Given the description of an element on the screen output the (x, y) to click on. 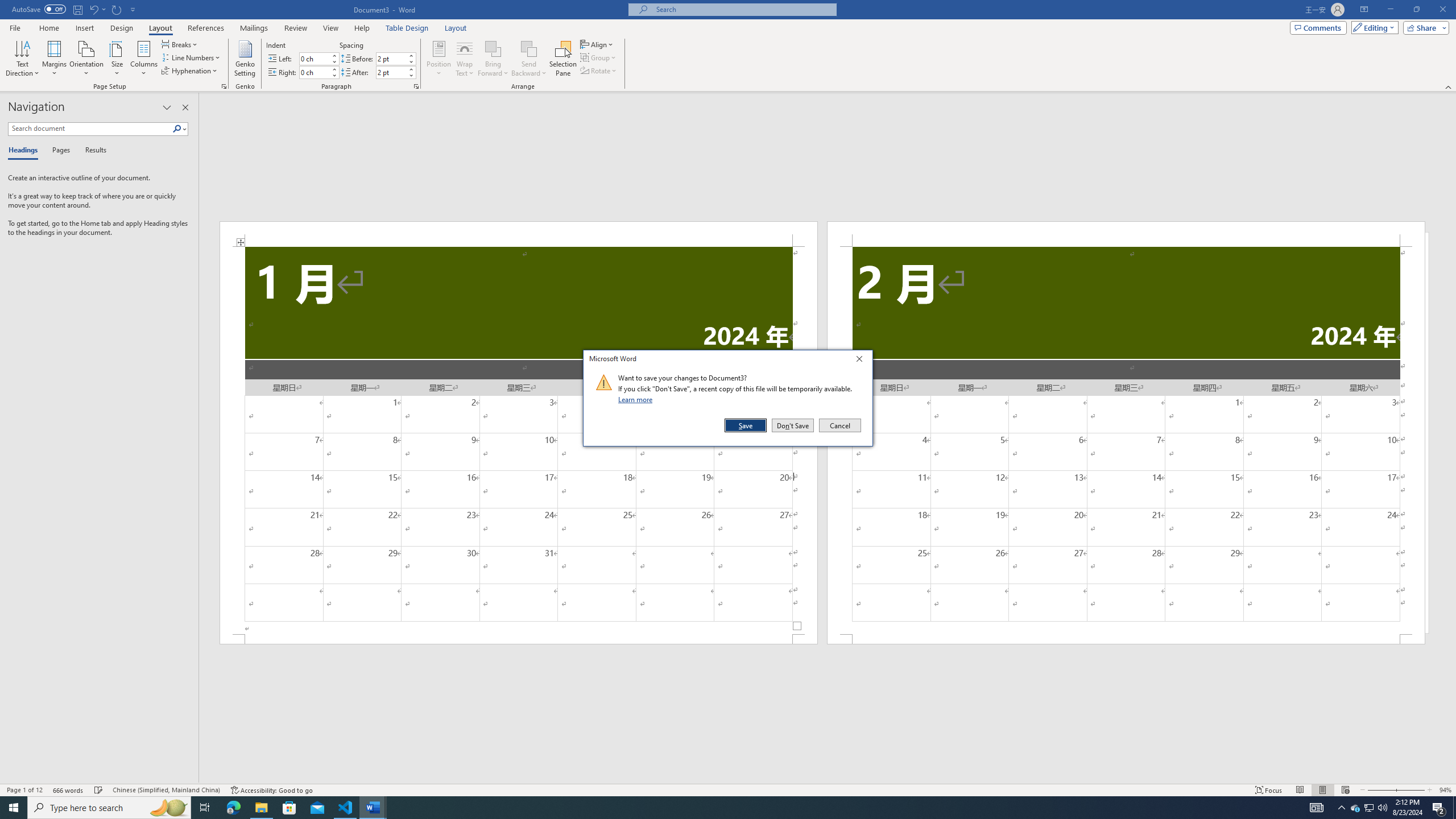
Position (438, 58)
Bring Forward (492, 48)
